Given the description of an element on the screen output the (x, y) to click on. 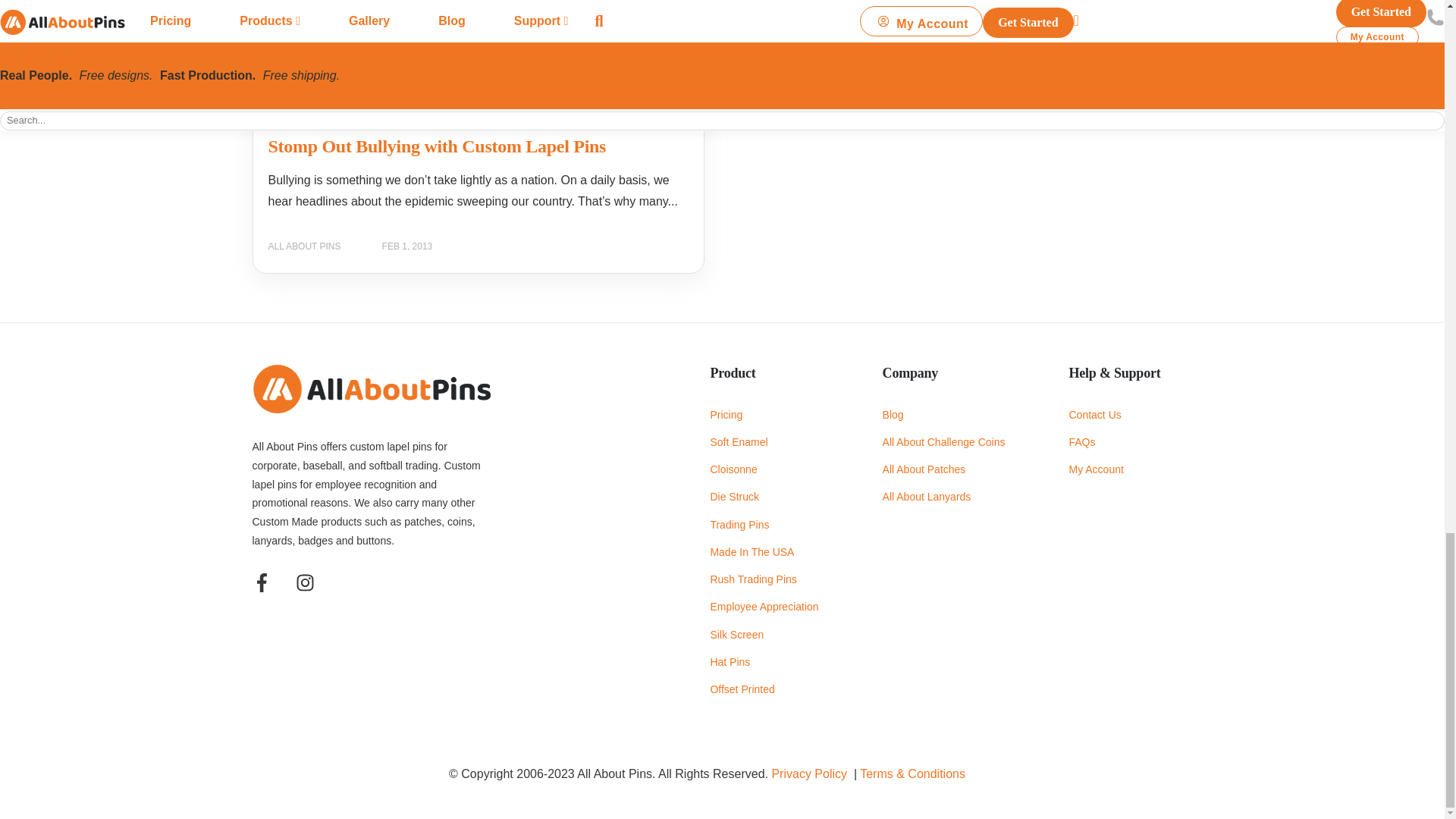
Stomp Out Bullying with Custom Lapel Pins (437, 146)
Pricing (764, 414)
